Given the description of an element on the screen output the (x, y) to click on. 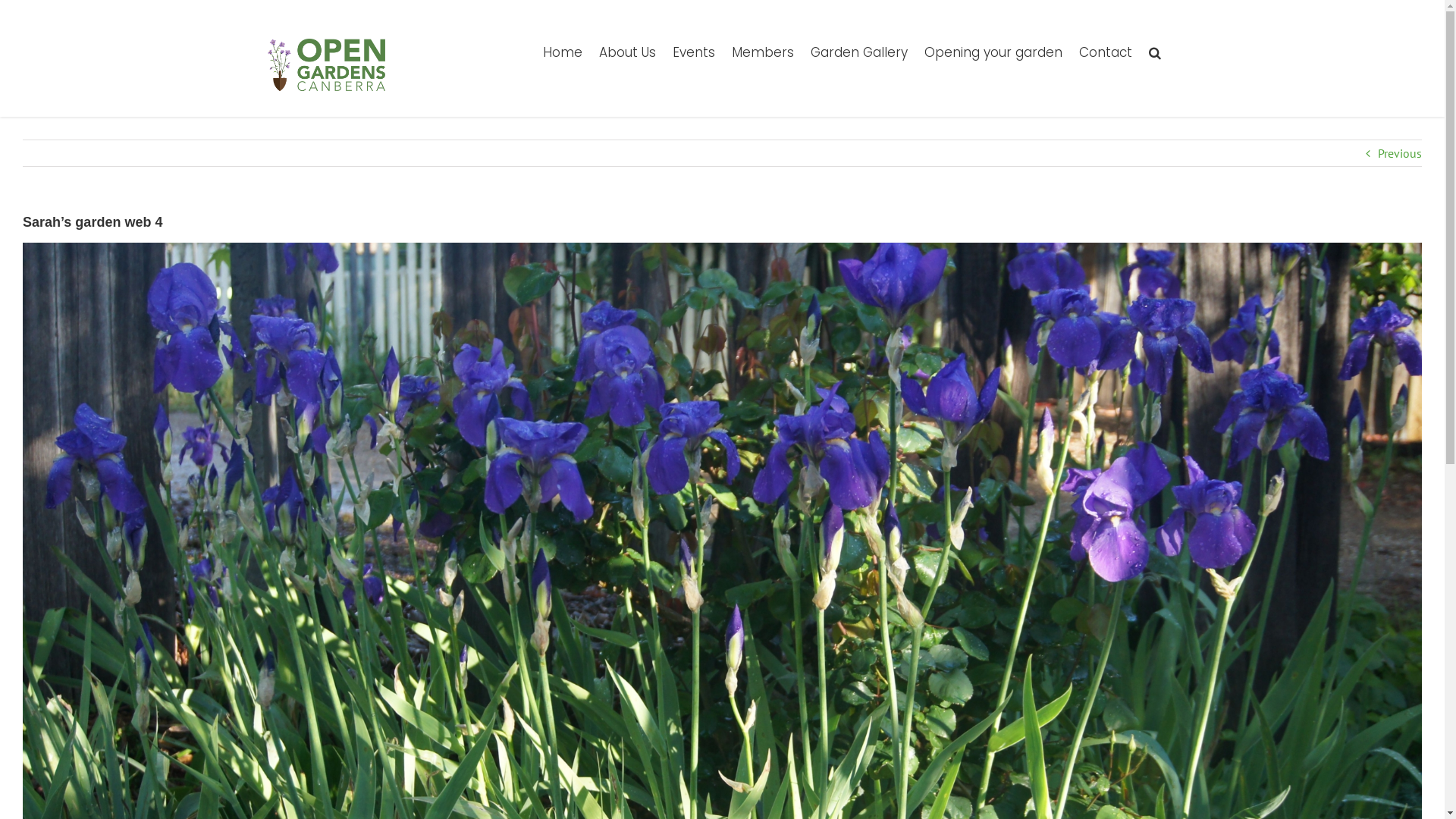
Opening your garden Element type: text (992, 51)
Previous Element type: text (1399, 153)
About Us Element type: text (627, 51)
Events Element type: text (692, 51)
Garden Gallery Element type: text (857, 51)
Contact Element type: text (1104, 51)
Search Element type: hover (1154, 51)
Members Element type: text (762, 51)
Home Element type: text (562, 51)
